Given the description of an element on the screen output the (x, y) to click on. 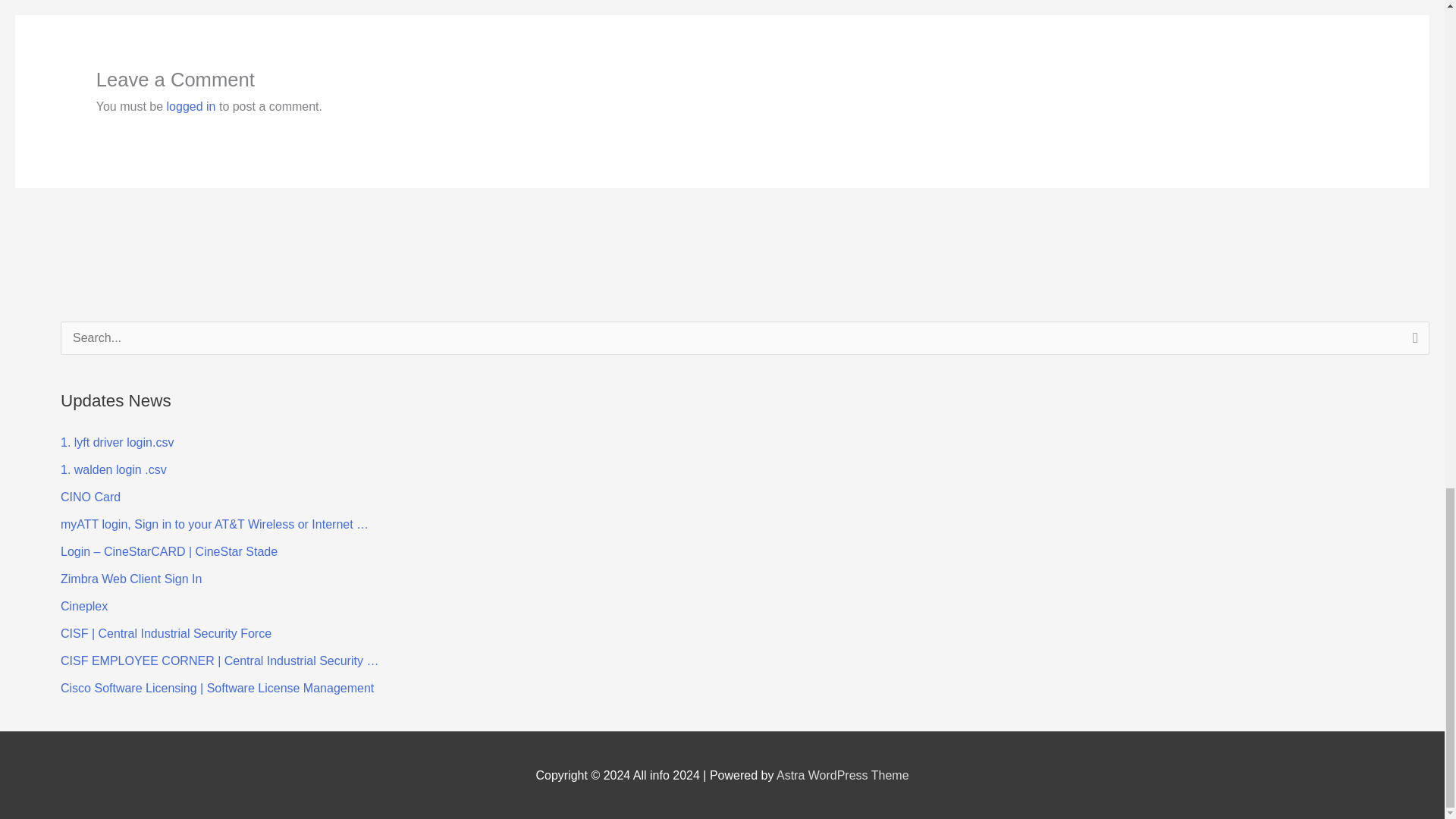
logged in (191, 106)
1. lyft driver login.csv (117, 441)
Cineplex (84, 605)
Astra WordPress Theme (842, 775)
CINO Card (90, 496)
1. walden login .csv (114, 469)
Zimbra Web Client Sign In (131, 578)
